Given the description of an element on the screen output the (x, y) to click on. 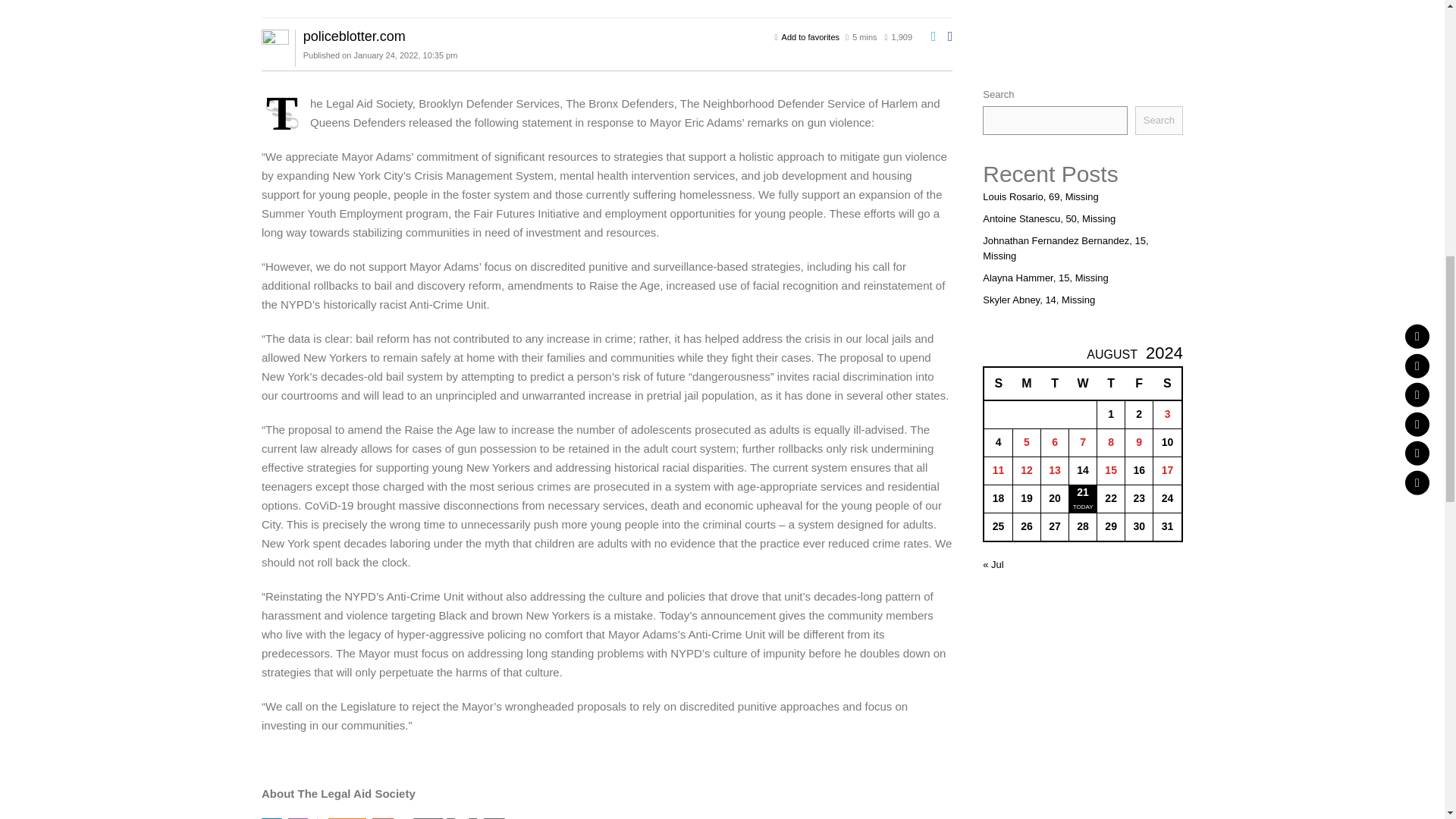
Add to favorites (810, 36)
Posts by policeblotter.com (354, 36)
policeblotter.com (354, 36)
